Given the description of an element on the screen output the (x, y) to click on. 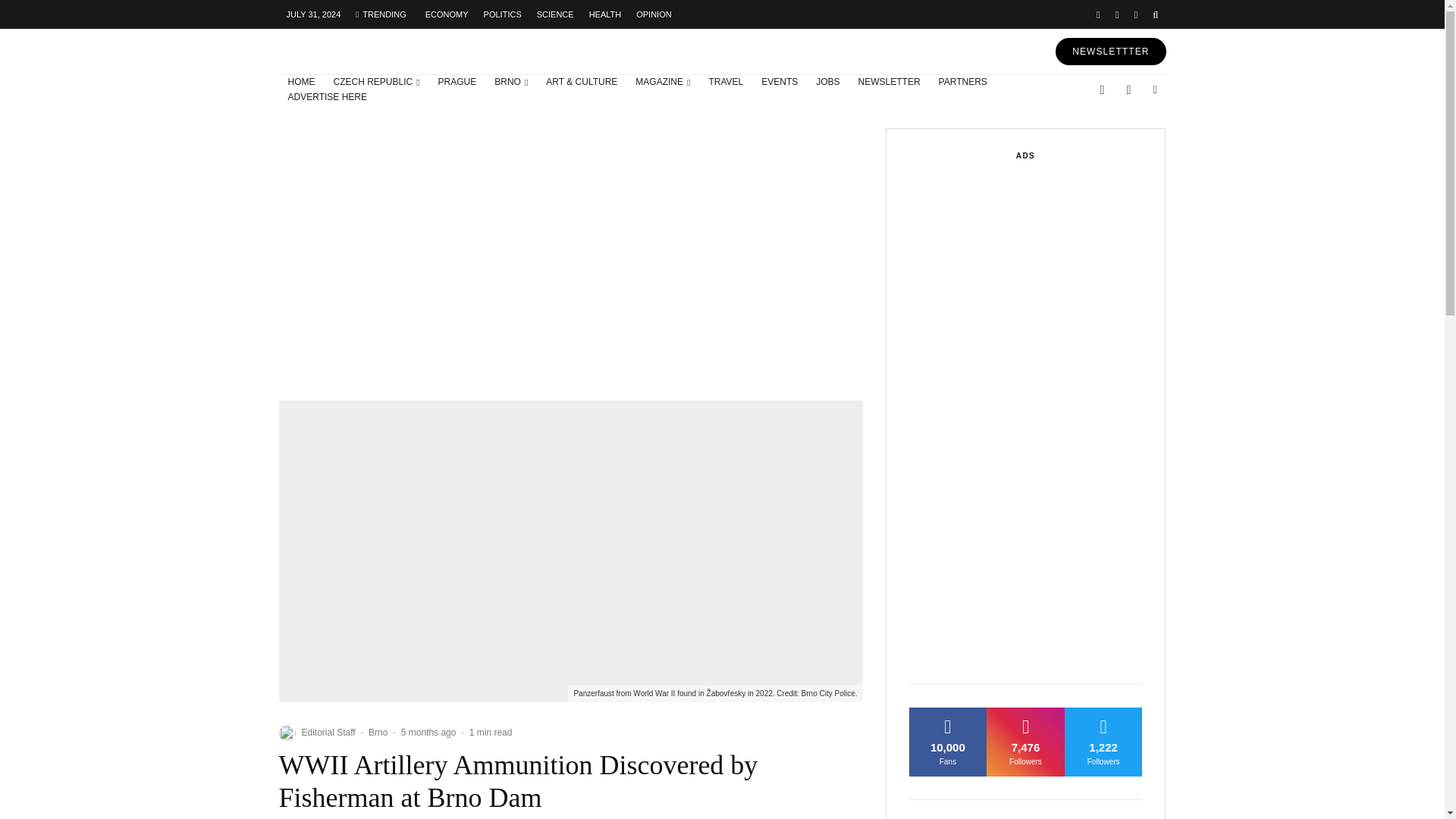
TRENDING (380, 14)
NEWSLETTTER (1110, 51)
CZECH REPUBLIC (376, 82)
HOME (301, 82)
POLITICS (502, 14)
ECONOMY (446, 14)
SCIENCE (554, 14)
OPINION (653, 14)
HEALTH (604, 14)
PRAGUE (457, 82)
